Given the description of an element on the screen output the (x, y) to click on. 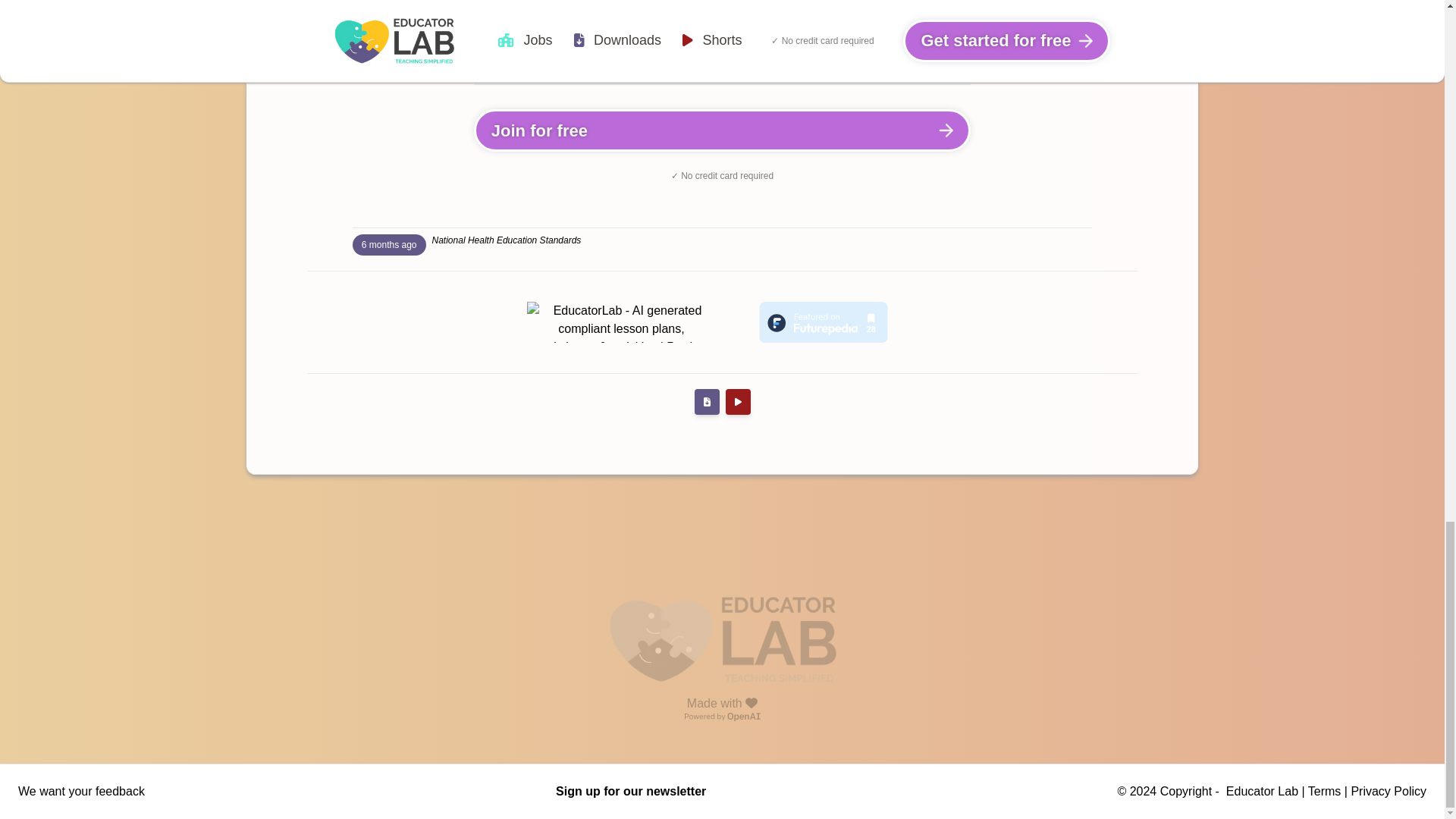
Educator Lab (1261, 790)
We want your feedback (80, 790)
Terms (1323, 790)
Join for free (722, 129)
Sign up for our newsletter (631, 790)
Privacy Policy (1388, 790)
SUPPLY LIST (722, 55)
